Given the description of an element on the screen output the (x, y) to click on. 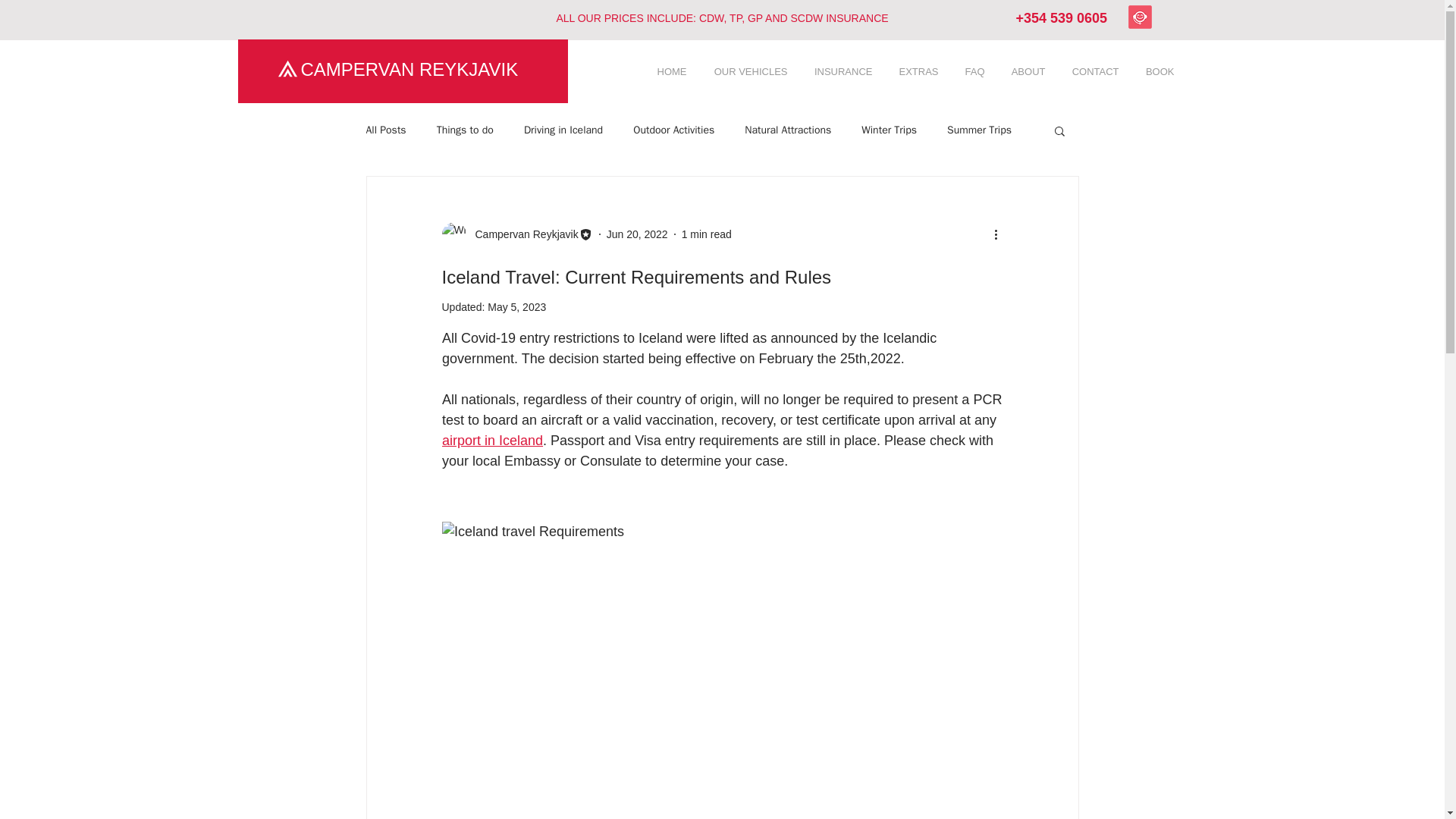
INSURANCE (841, 71)
May 5, 2023 (516, 306)
BOOK (1157, 71)
Summer Trips (979, 130)
airport in Iceland (491, 440)
Outdoor Activities (673, 130)
Driving in Iceland (563, 130)
ABOUT (1026, 71)
ALL OUR PRICES INCLUDE: CDW, TP, GP AND SCDW INSURANCE (722, 18)
All Posts (385, 130)
Campervan Reykjavik (521, 233)
HOME (670, 71)
1 min read (706, 233)
FAQ (972, 71)
Things to do (464, 130)
